Given the description of an element on the screen output the (x, y) to click on. 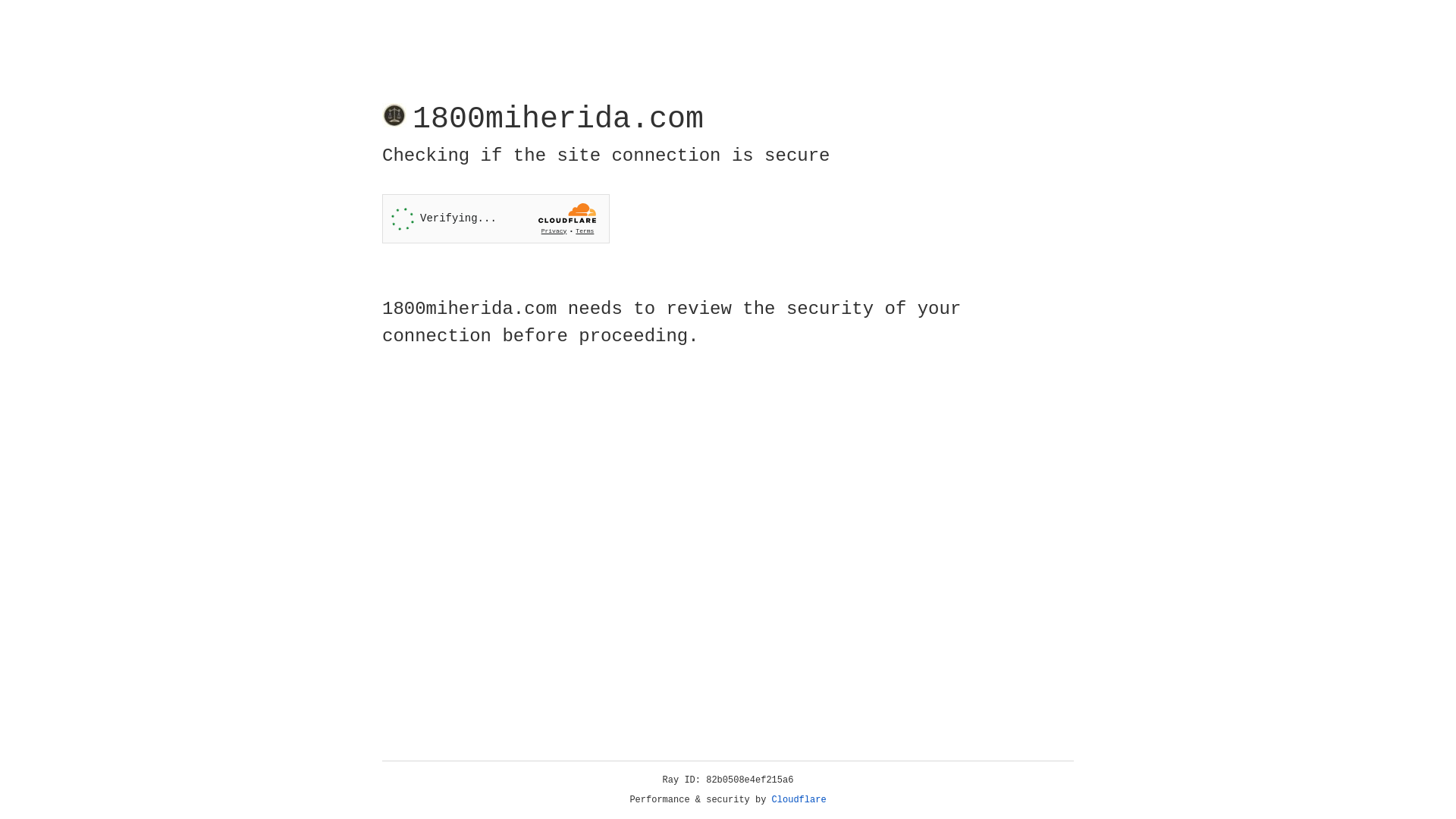
Cloudflare Element type: text (798, 799)
Widget containing a Cloudflare security challenge Element type: hover (495, 218)
